Given the description of an element on the screen output the (x, y) to click on. 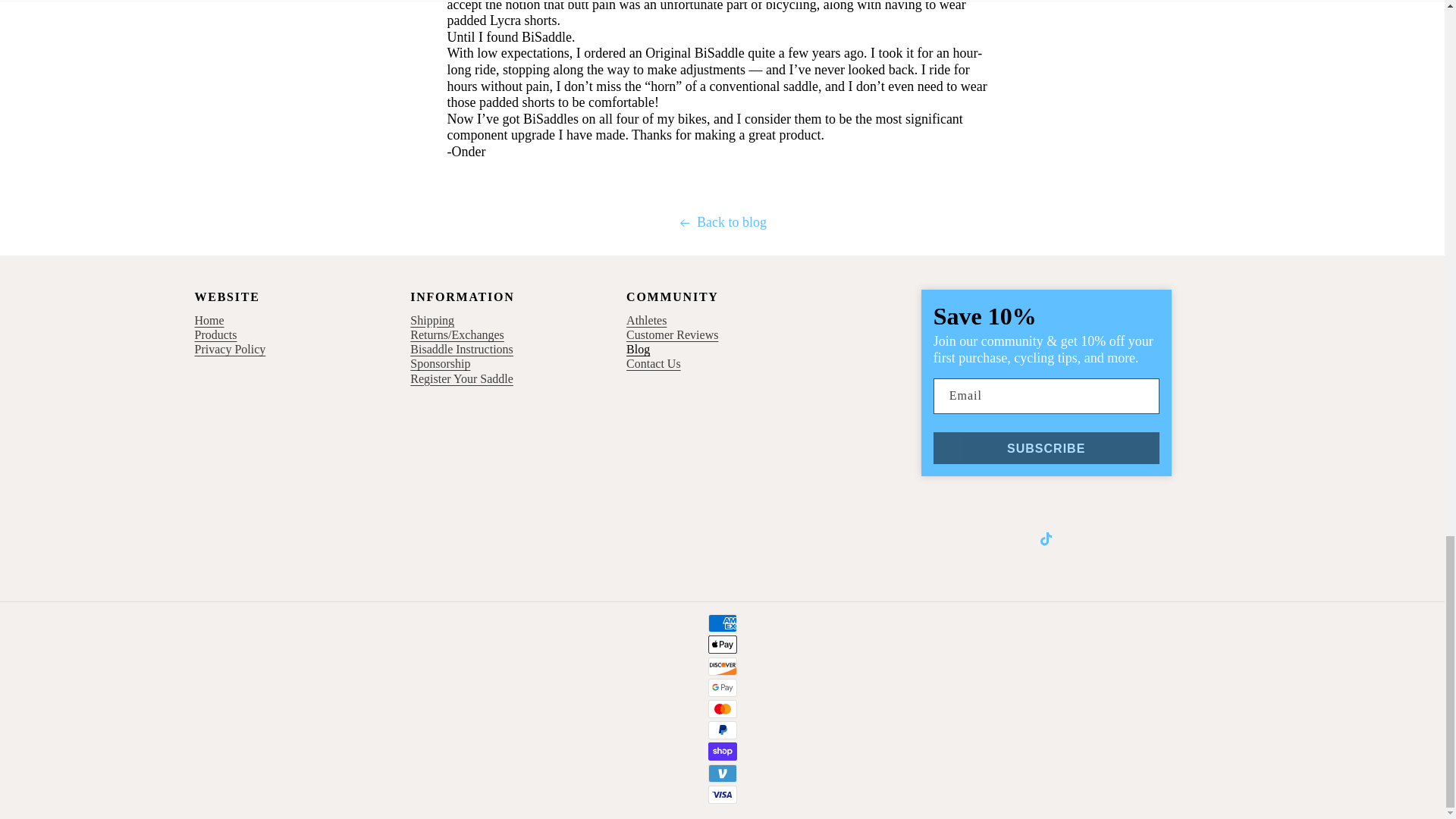
Visa (721, 794)
Shop Pay (721, 751)
Mastercard (721, 709)
Google Pay (721, 687)
Apple Pay (721, 644)
American Express (721, 623)
Venmo (721, 773)
PayPal (721, 730)
Discover (721, 666)
